Given the description of an element on the screen output the (x, y) to click on. 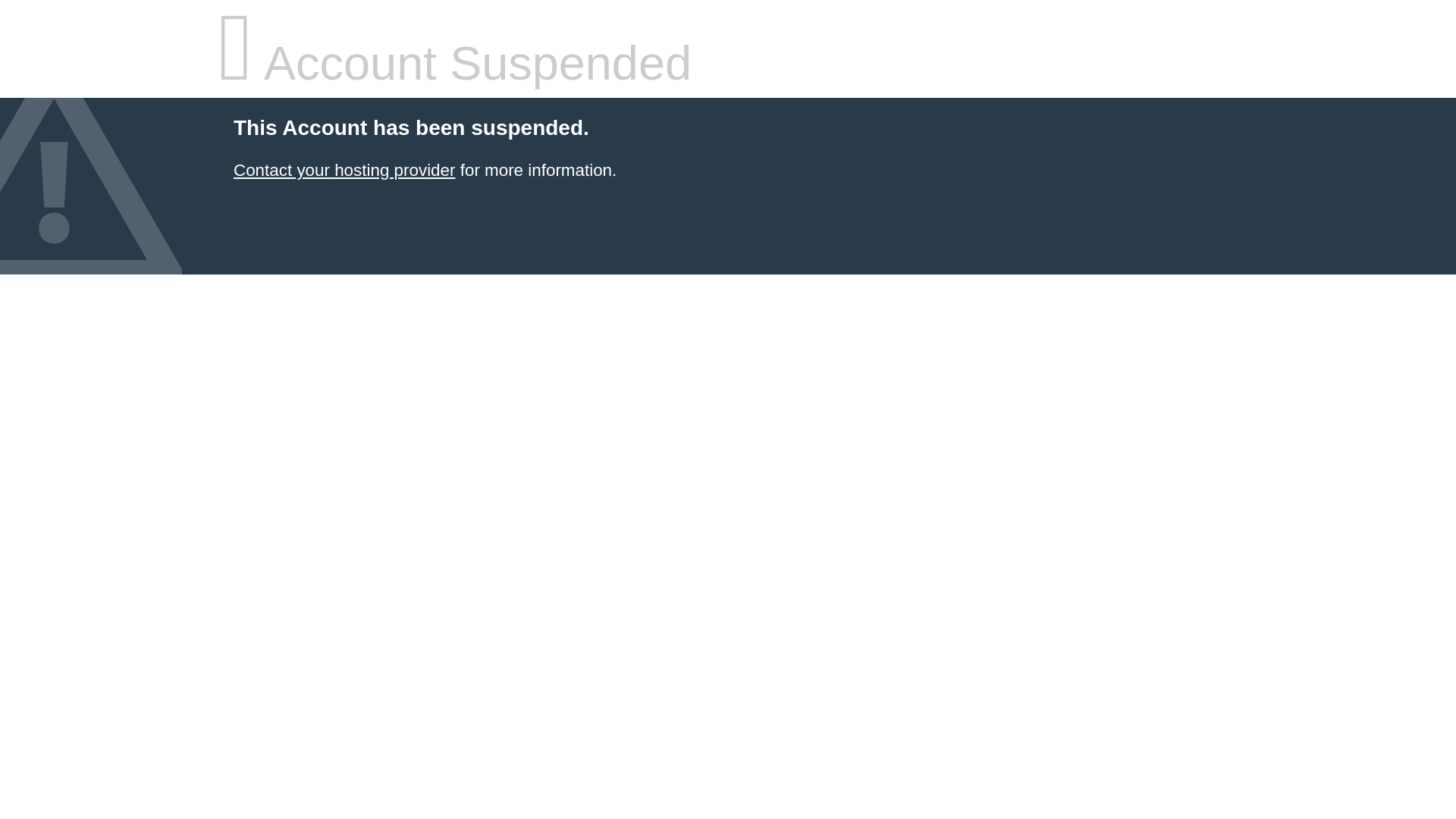
Contact your hosting provider (343, 169)
